Given the description of an element on the screen output the (x, y) to click on. 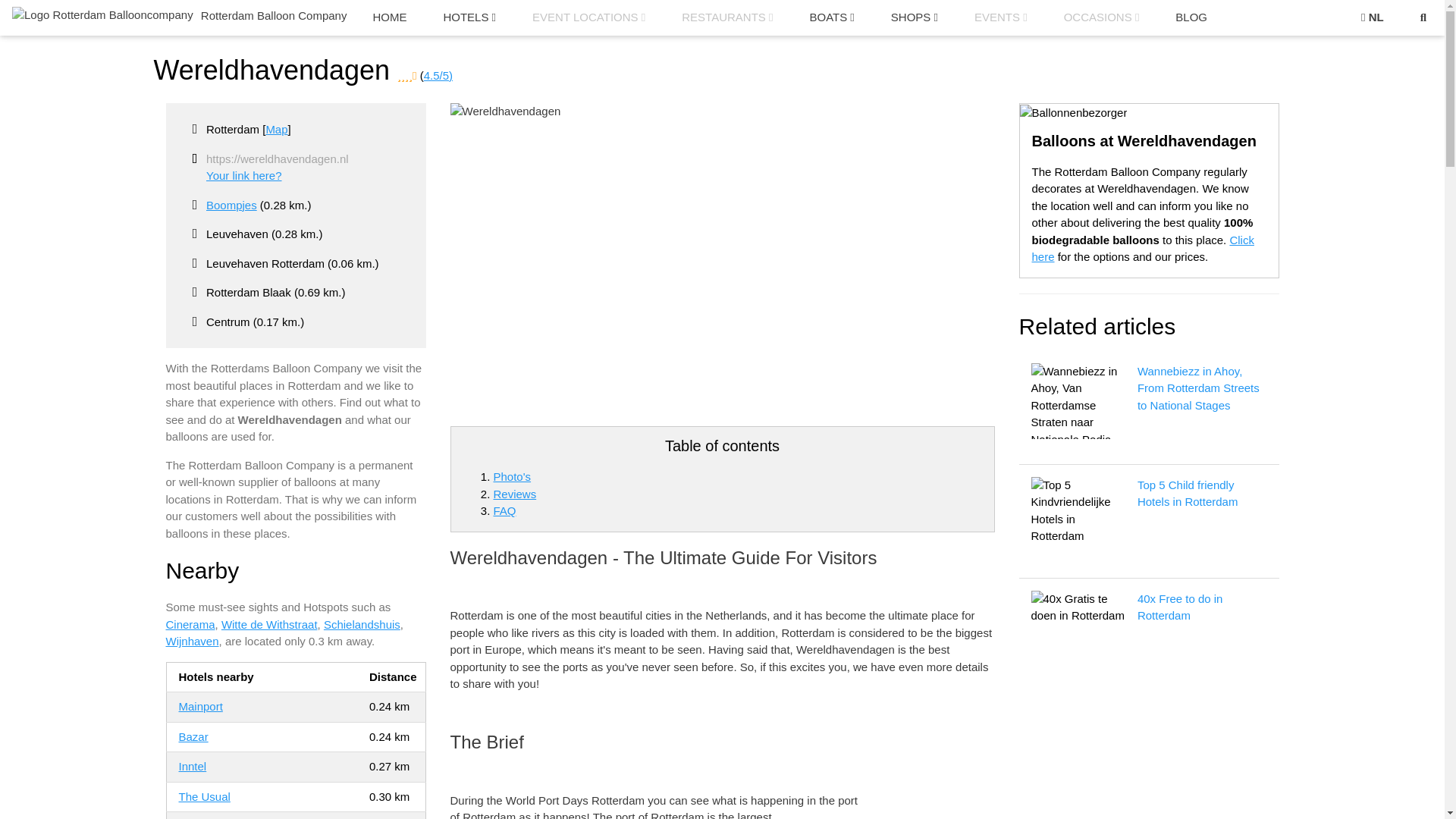
More (1000, 18)
More (831, 18)
More (469, 18)
More (588, 18)
More (914, 18)
HOME (389, 18)
More (726, 18)
Rotterdam Balloon Company (176, 14)
EVENT LOCATIONS (588, 18)
HOTELS (469, 18)
